Given the description of an element on the screen output the (x, y) to click on. 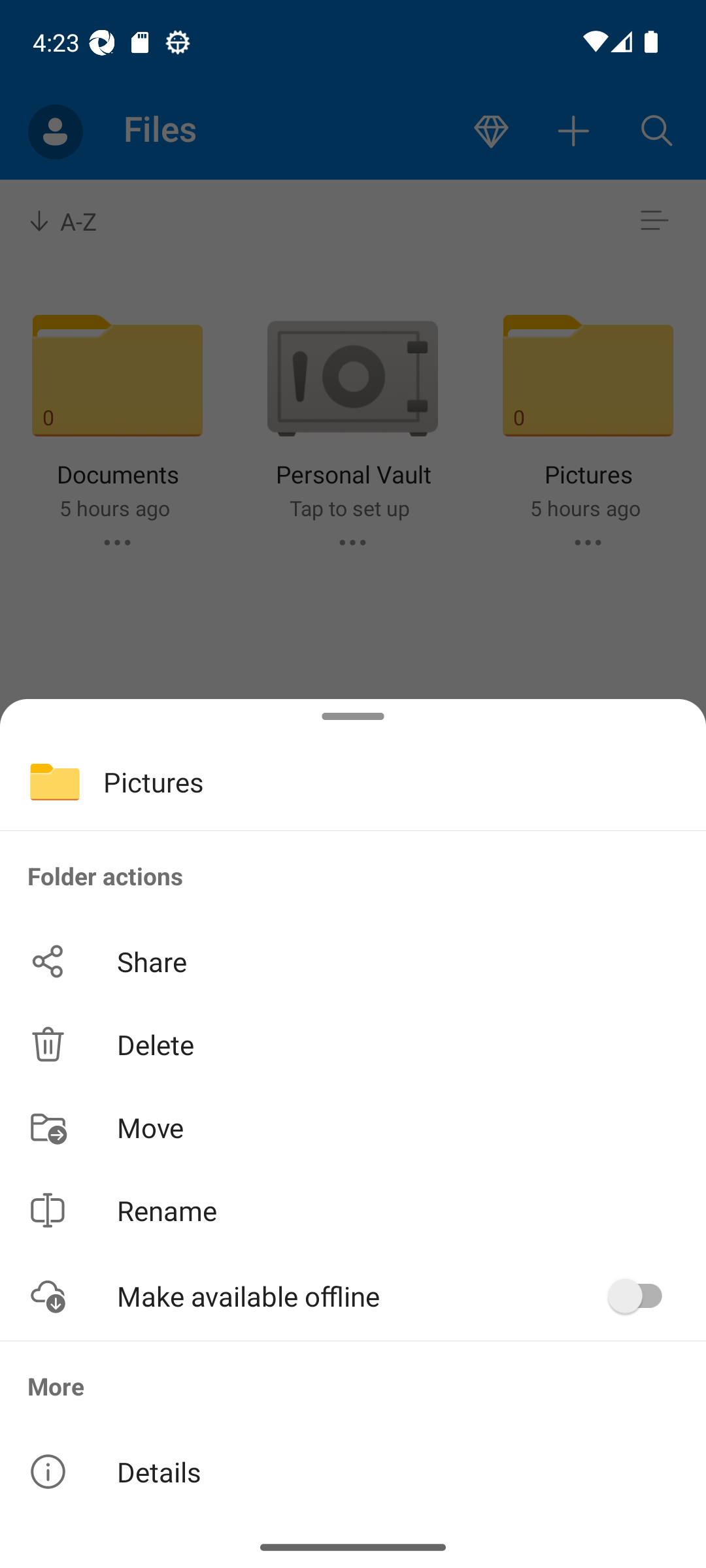
Share button Share (353, 961)
Delete button Delete (353, 1044)
Move button Move (353, 1126)
Rename button Rename (353, 1209)
Make offline operation (641, 1295)
Details button Details (353, 1471)
